Given the description of an element on the screen output the (x, y) to click on. 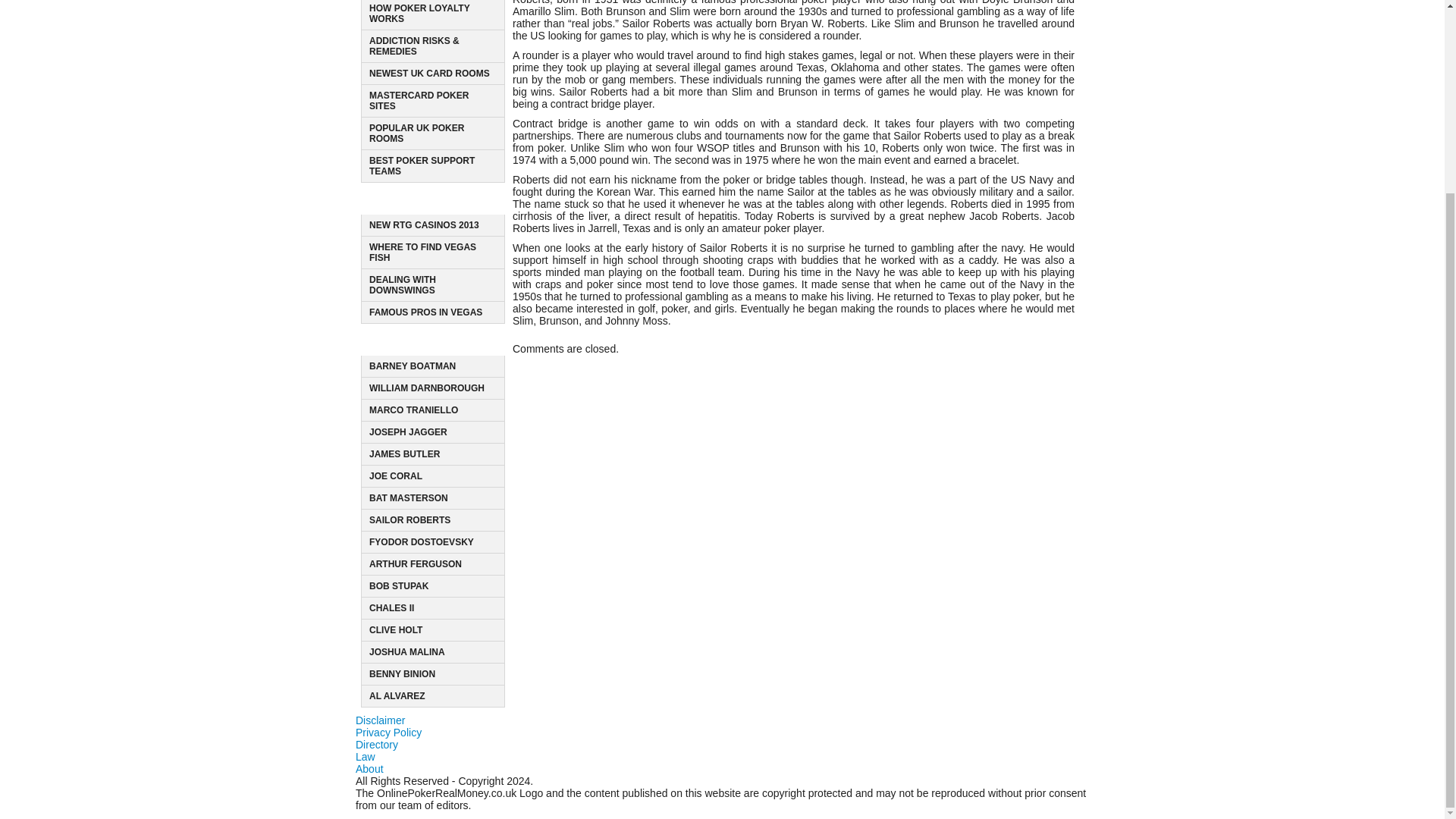
FAMOUS PROS IN VEGAS (425, 312)
CHALES II (391, 607)
MARCO TRANIELLO (413, 409)
AL ALVAREZ (397, 696)
FYODOR DOSTOEVSKY (421, 542)
CLIVE HOLT (395, 629)
JOSHUA MALINA (442, 342)
NEW RTG CASINOS 2013 (407, 652)
SAILOR ROBERTS (424, 225)
